Given the description of an element on the screen output the (x, y) to click on. 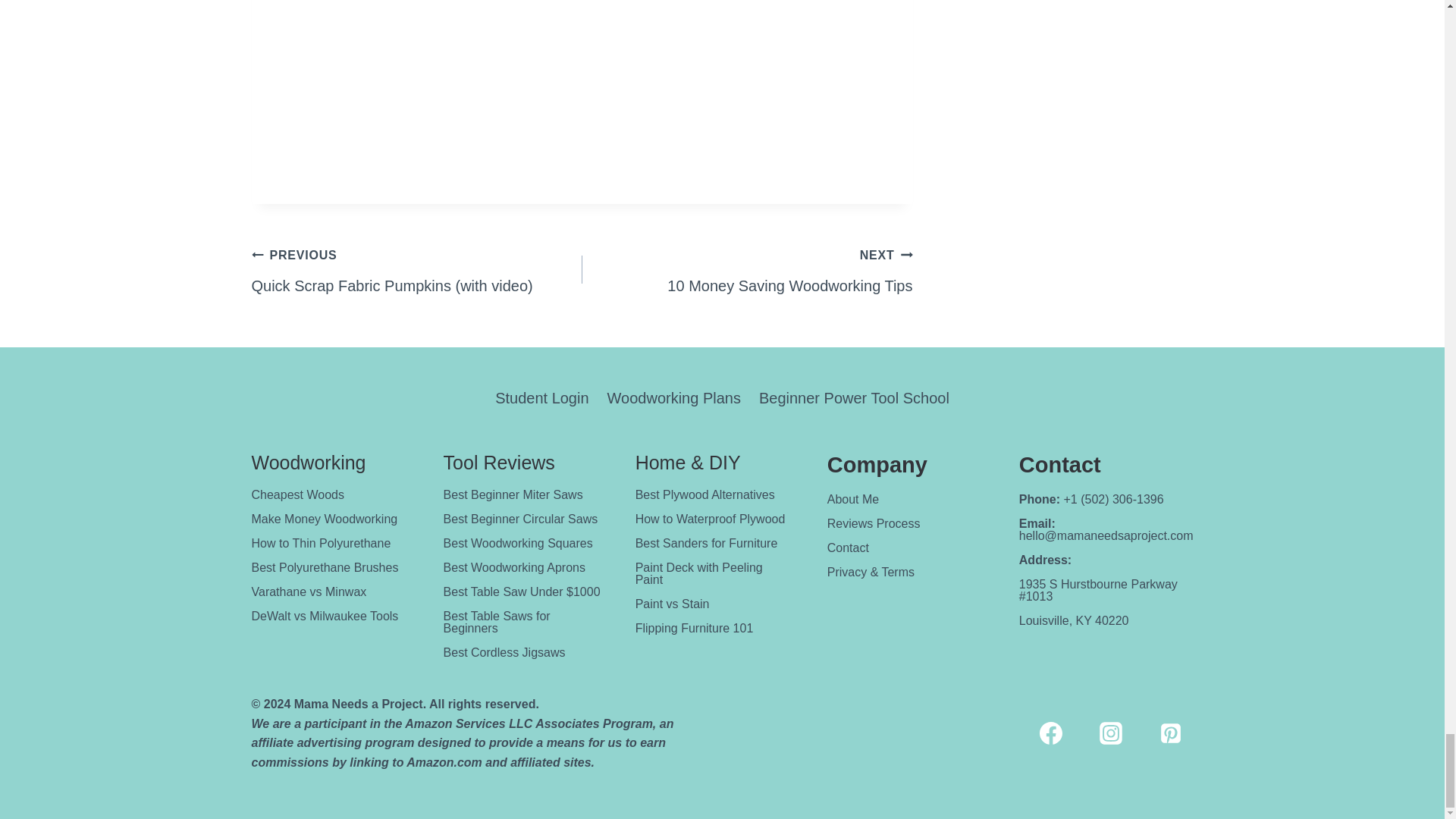
Beginner Power Tool School (853, 397)
Cheapest Woods (297, 494)
How to Thin Polyurethane (321, 543)
Make Money Woodworking (747, 269)
Woodworking Plans (324, 518)
Student Login (673, 397)
Best Polyurethane Brushes (541, 397)
